Given the description of an element on the screen output the (x, y) to click on. 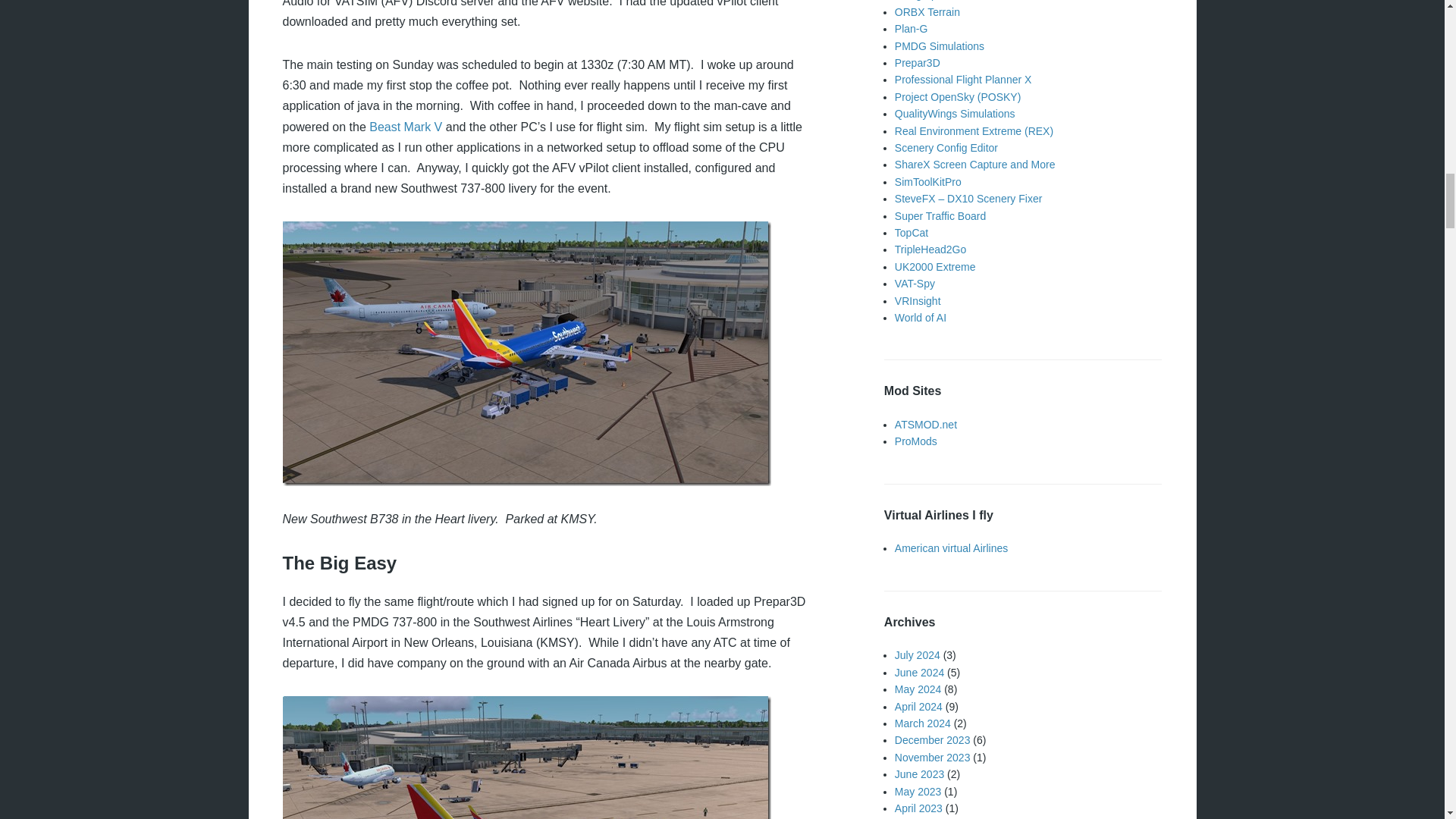
Beast Mark V (405, 126)
